Given the description of an element on the screen output the (x, y) to click on. 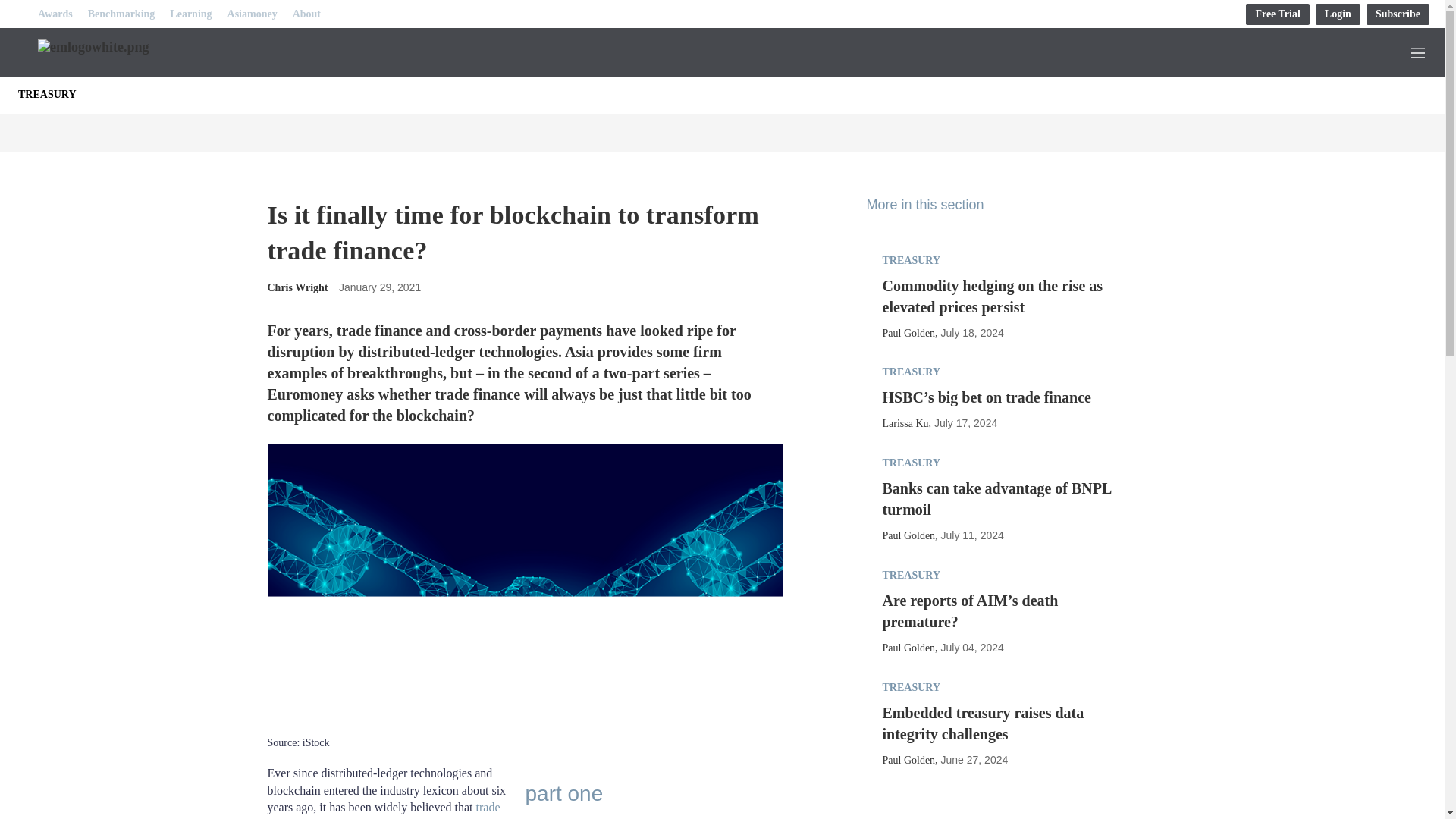
Subscribe (1398, 13)
About (306, 13)
Awards (54, 13)
Learning (190, 13)
Asiamoney (252, 13)
Free Trial (1277, 13)
Login (1337, 13)
Benchmarking (121, 13)
